Given the description of an element on the screen output the (x, y) to click on. 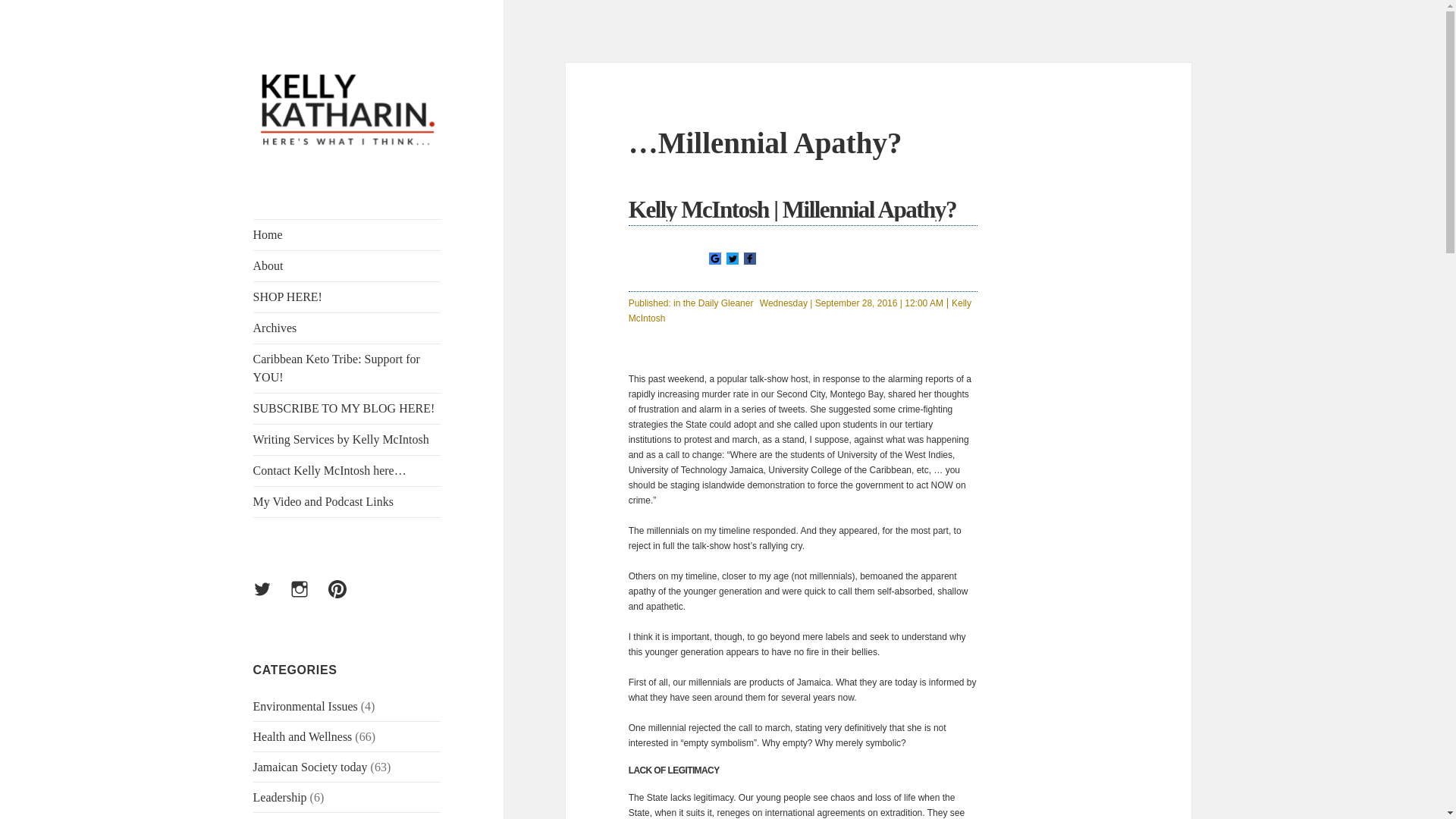
Twitter (732, 258)
Tweet (732, 259)
Health and Wellness (302, 736)
Instagram (307, 597)
SHOP HERE! (347, 296)
Pinterest (347, 597)
Google Bookmark (714, 258)
Environmental Issues (305, 706)
Caribbean Keto Tribe: Support for YOU! (347, 368)
Google Bookmark (714, 259)
About (347, 265)
Facebook (749, 259)
Jamaican Society today (310, 766)
My Video and Podcast Links (347, 501)
fb:like Facebook Social Plugin (808, 259)
